Given the description of an element on the screen output the (x, y) to click on. 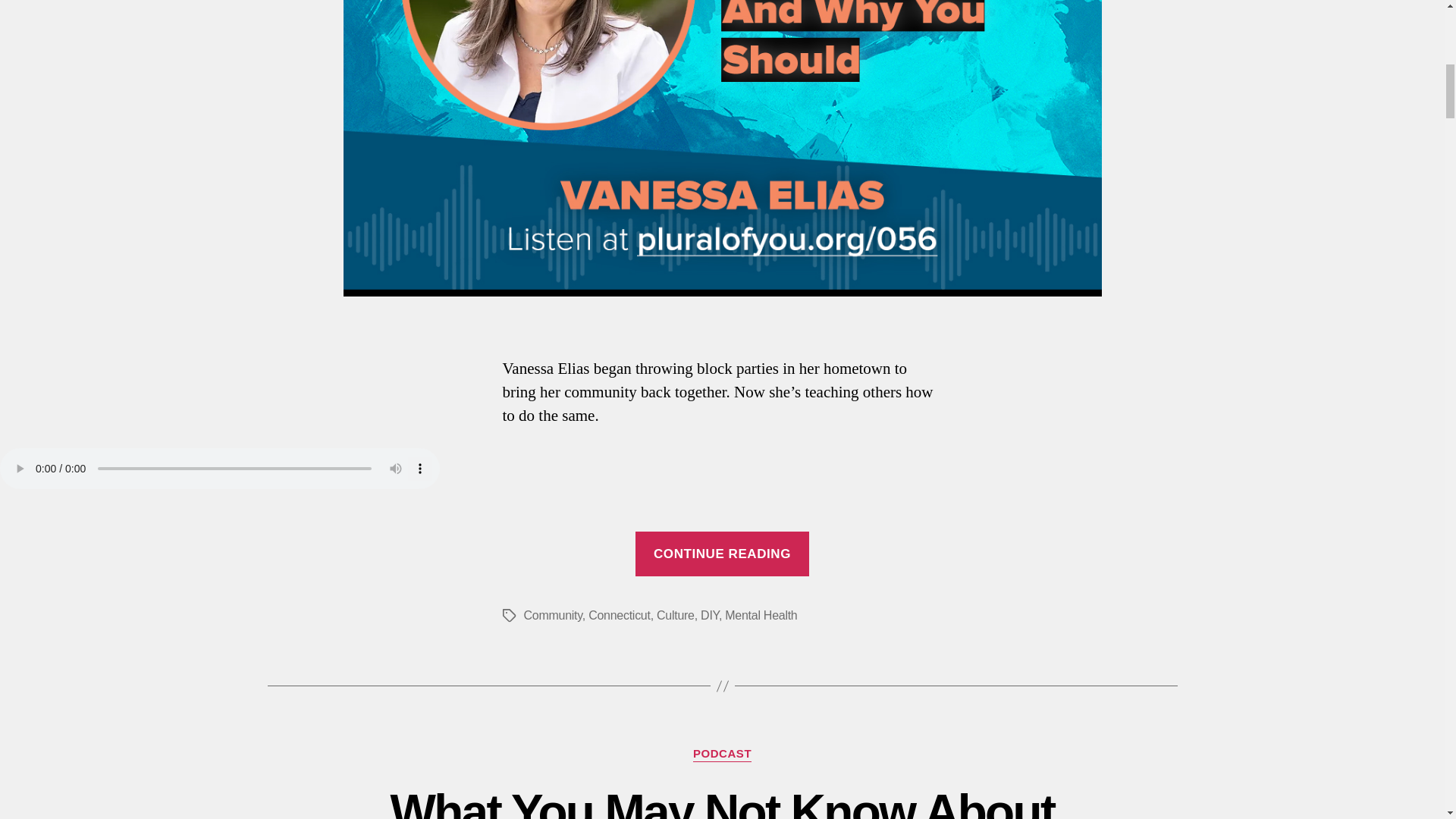
DIY (709, 615)
Mental Health (760, 615)
Connecticut (619, 615)
PODCAST (722, 754)
Community (551, 615)
Culture (675, 615)
